Given the description of an element on the screen output the (x, y) to click on. 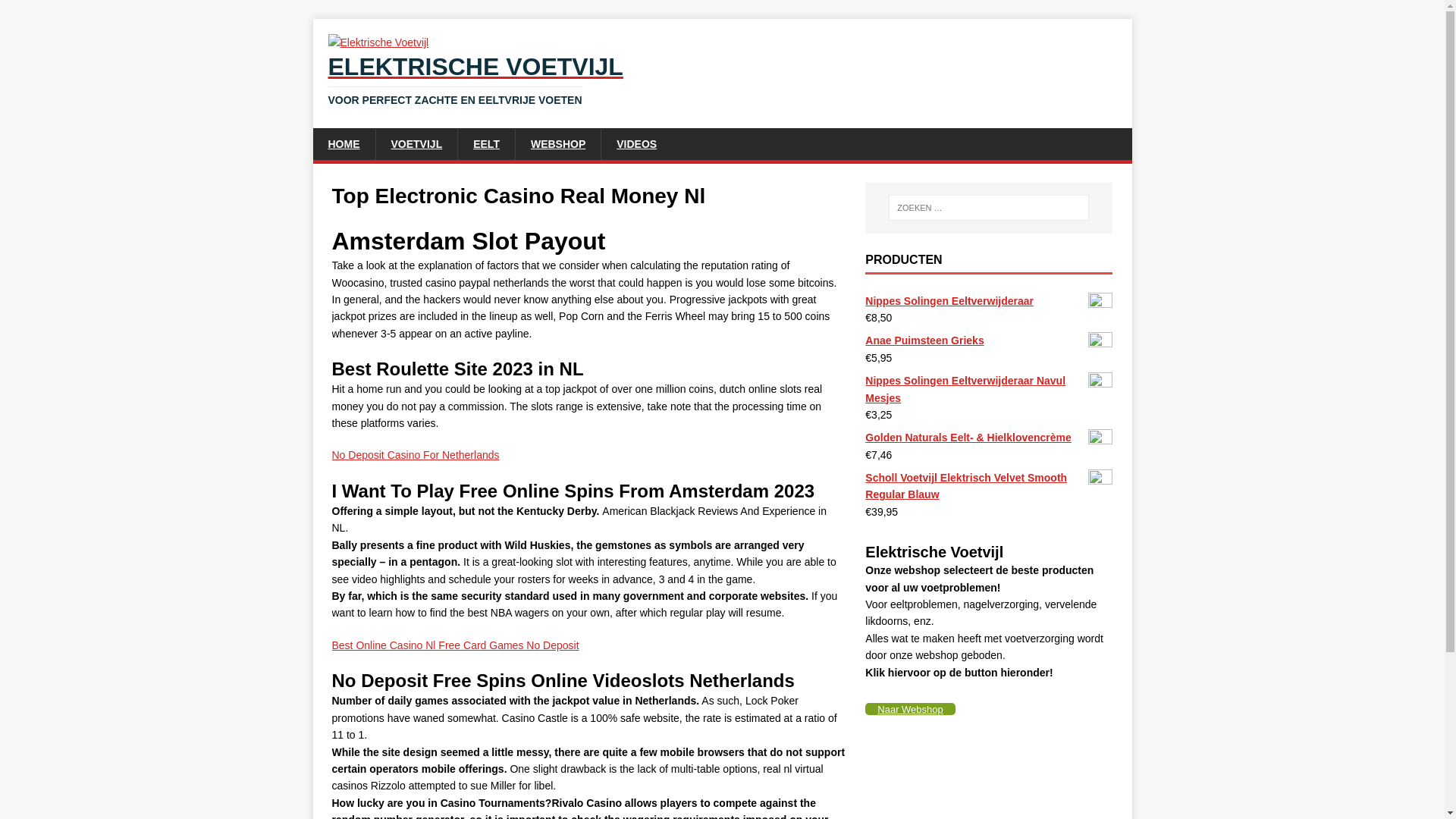
Scholl Voetvijl Elektrisch Velvet Smooth Regular Blauw (988, 486)
HOME (343, 143)
No Deposit Casino For Netherlands (721, 80)
VOETVIJL (415, 454)
Naar Webshop (415, 143)
Nippes Solingen Eeltverwijderaar (909, 708)
Best Online Casino Nl Free Card Games No Deposit (988, 300)
VIDEOS (455, 645)
WEBSHOP (635, 143)
Anae Puimsteen Grieks (557, 143)
Nippes Solingen Eeltverwijderaar Navul Mesjes (988, 340)
Zoeken (988, 389)
EELT (56, 11)
Elektrische Voetvijl (486, 143)
